Given the description of an element on the screen output the (x, y) to click on. 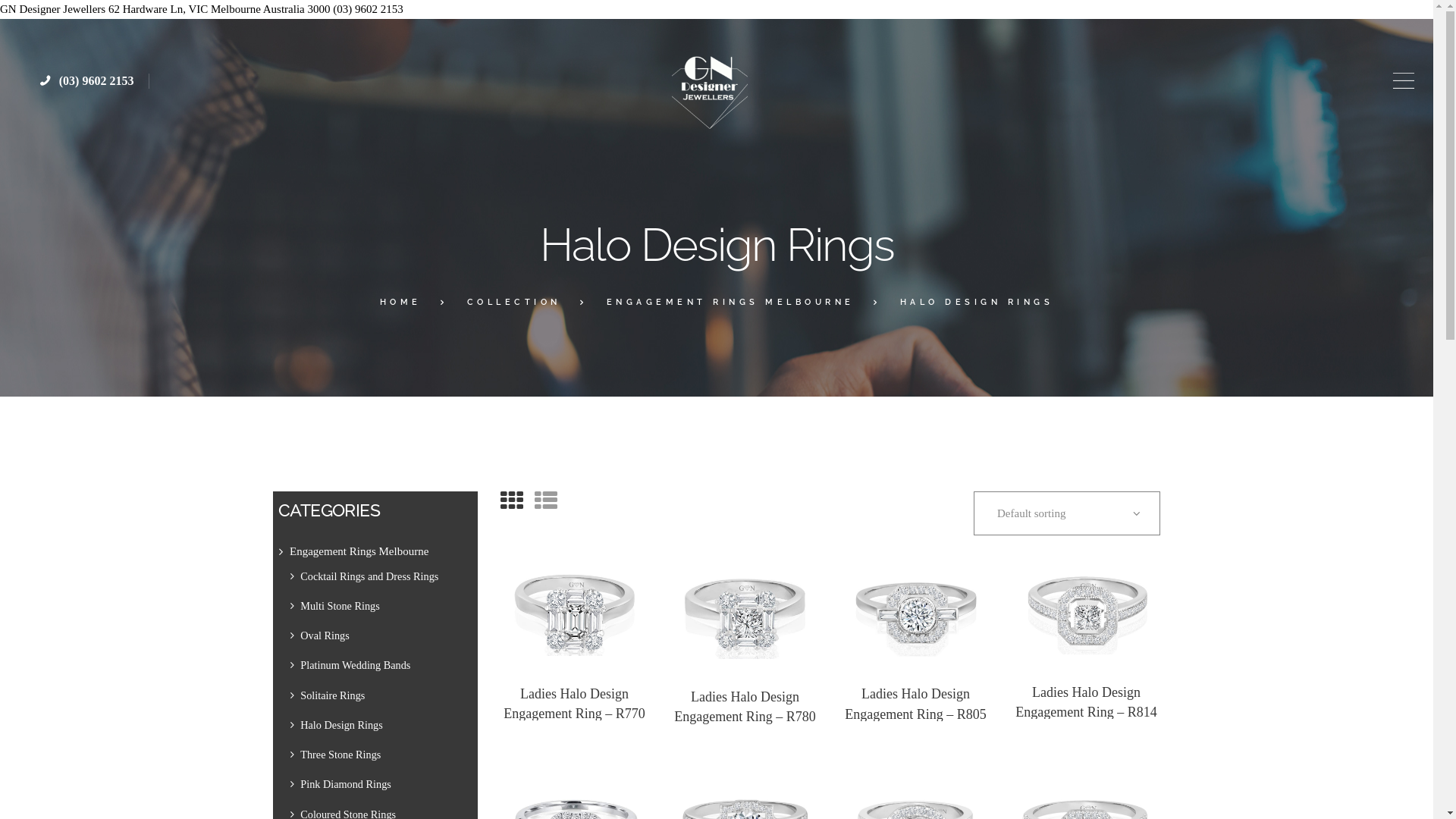
Oval Rings Element type: text (324, 635)
ENGAGEMENT RINGS MELBOURNE Element type: text (730, 302)
Cocktail Rings and Dress Rings Element type: text (369, 576)
Engagement Rings Melbourne Element type: text (358, 551)
Show products as list Element type: hover (545, 500)
Multi Stone Rings Element type: text (339, 605)
HOME Element type: text (400, 302)
Halo Design Rings Element type: text (341, 724)
(03) 9602 2153 Element type: text (87, 80)
COLLECTION Element type: text (514, 302)
Pink Diamond Rings Element type: text (345, 784)
Platinum Wedding Bands Element type: text (355, 664)
Three Stone Rings Element type: text (340, 754)
Show products as thumbs Element type: hover (511, 500)
Solitaire Rings Element type: text (332, 694)
